Given the description of an element on the screen output the (x, y) to click on. 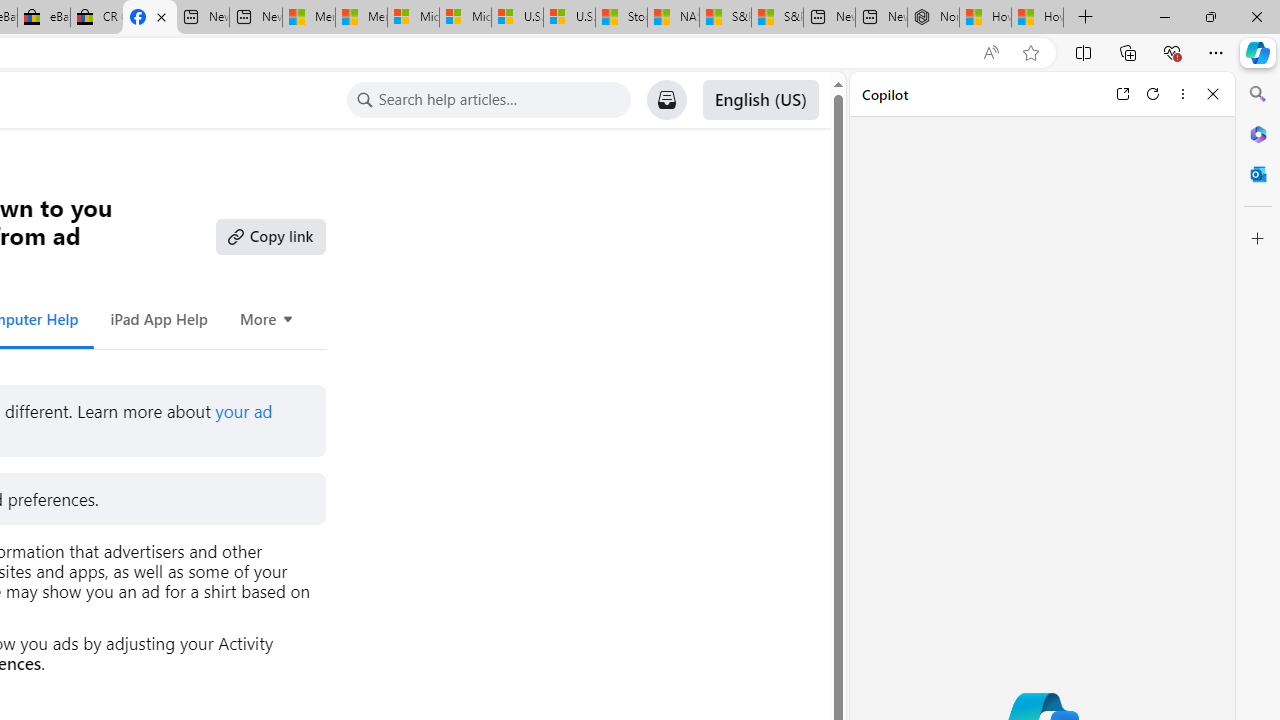
Microsoft 365 (1258, 133)
More (267, 318)
Copy link (270, 236)
Customize (1258, 239)
eBay Inc. Reports Third Quarter 2023 Results (43, 17)
Support Inbox (666, 99)
How to Use a Monitor With Your Closed Laptop (1037, 17)
Search (1258, 94)
